Given the description of an element on the screen output the (x, y) to click on. 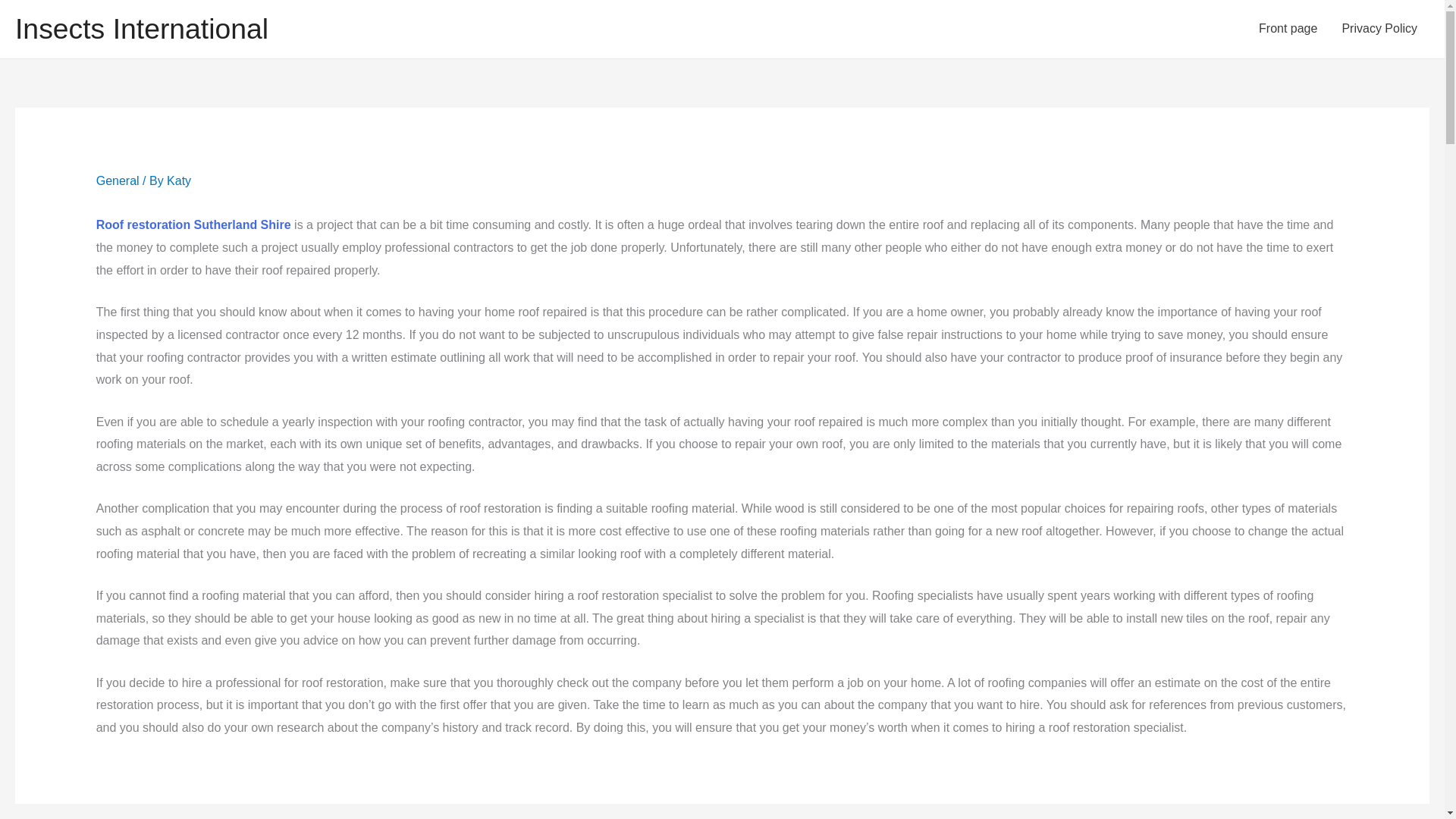
Insects International (140, 29)
View all posts by Katy (178, 180)
Privacy Policy (1379, 29)
General (117, 180)
Front page (1287, 29)
Roof restoration Sutherland Shire (193, 224)
Katy (178, 180)
